Given the description of an element on the screen output the (x, y) to click on. 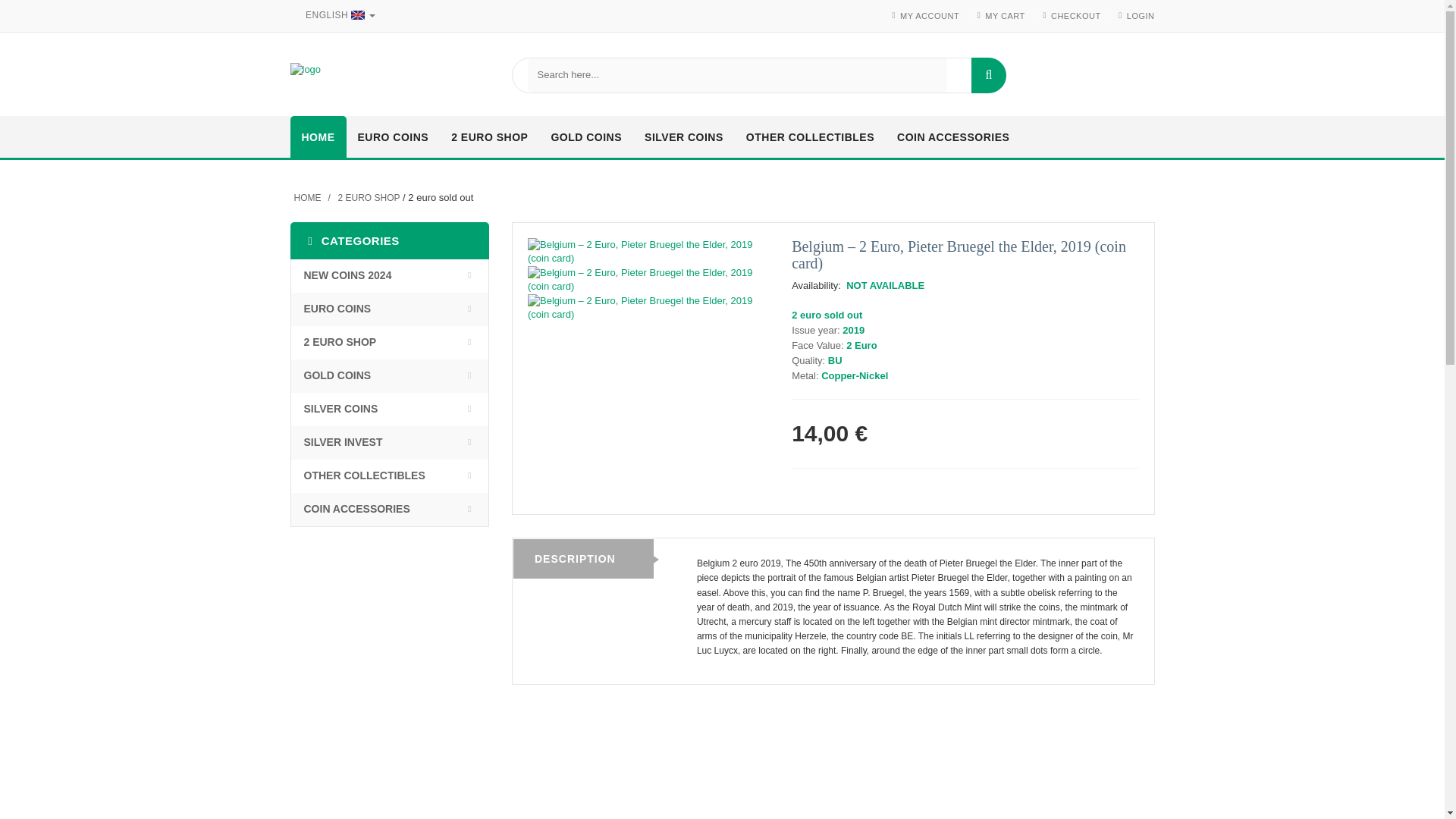
HOME (317, 137)
GOLD COINS (585, 137)
CHECKOUT (1075, 15)
EURO COINS (392, 137)
2 EURO SHOP (488, 137)
MY ACCOUNT (929, 15)
MY CART (1005, 15)
ENGLISH (337, 15)
LOGIN (1140, 15)
SILVER COINS (684, 137)
